Given the description of an element on the screen output the (x, y) to click on. 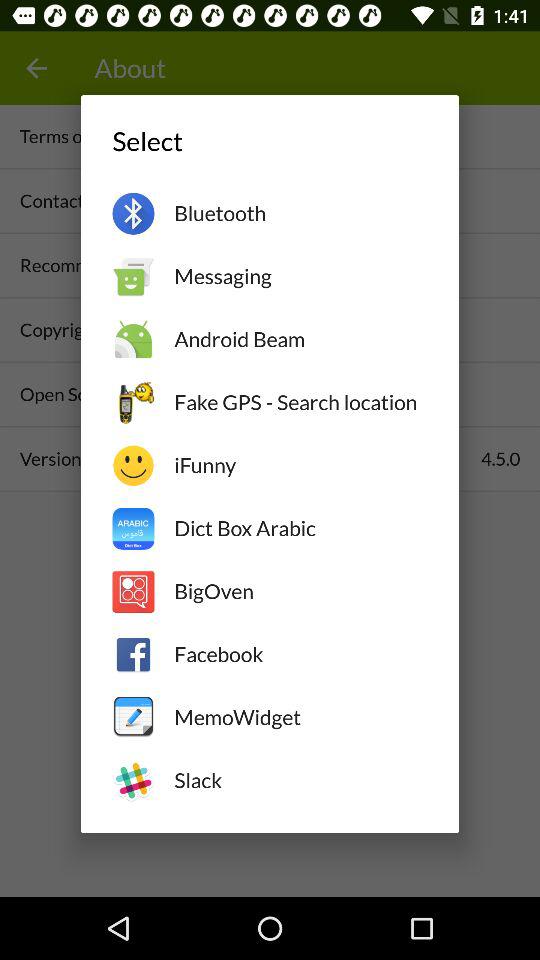
click the messaging (300, 276)
